Given the description of an element on the screen output the (x, y) to click on. 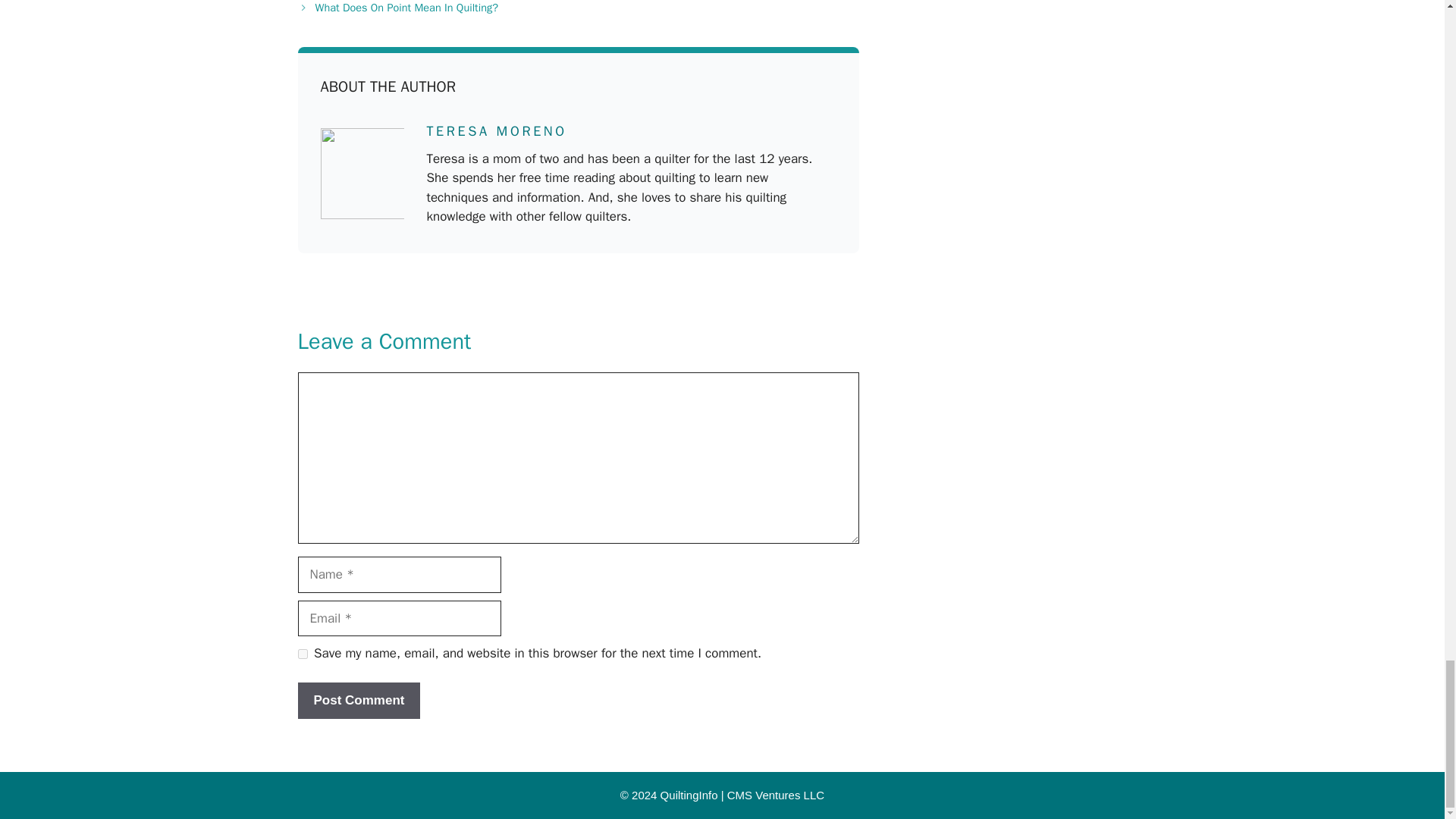
What Does On Point Mean In Quilting? (406, 7)
Post Comment (358, 700)
yes (302, 654)
TERESA MORENO (496, 130)
